Given the description of an element on the screen output the (x, y) to click on. 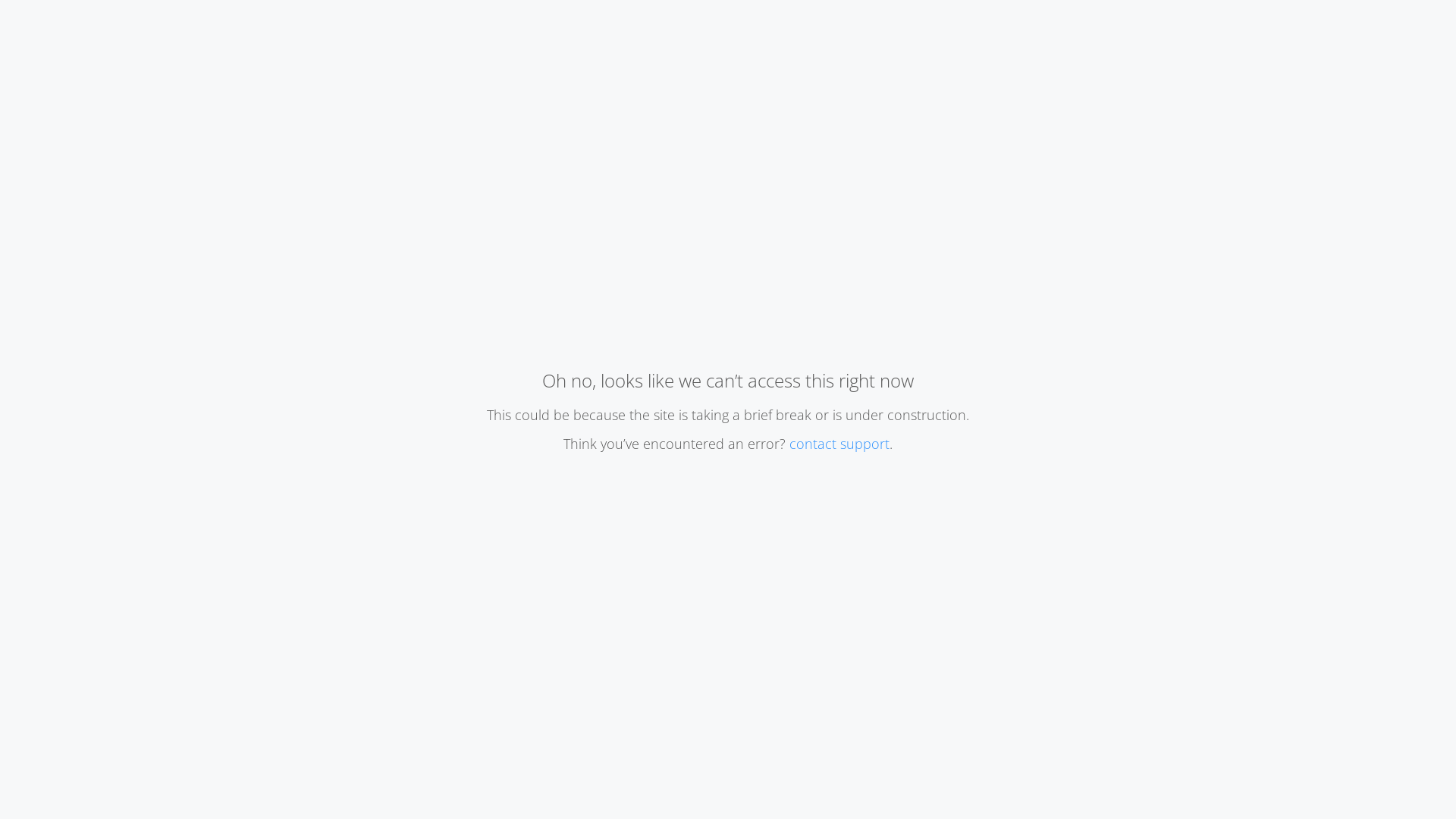
contact support Element type: text (839, 443)
